Given the description of an element on the screen output the (x, y) to click on. 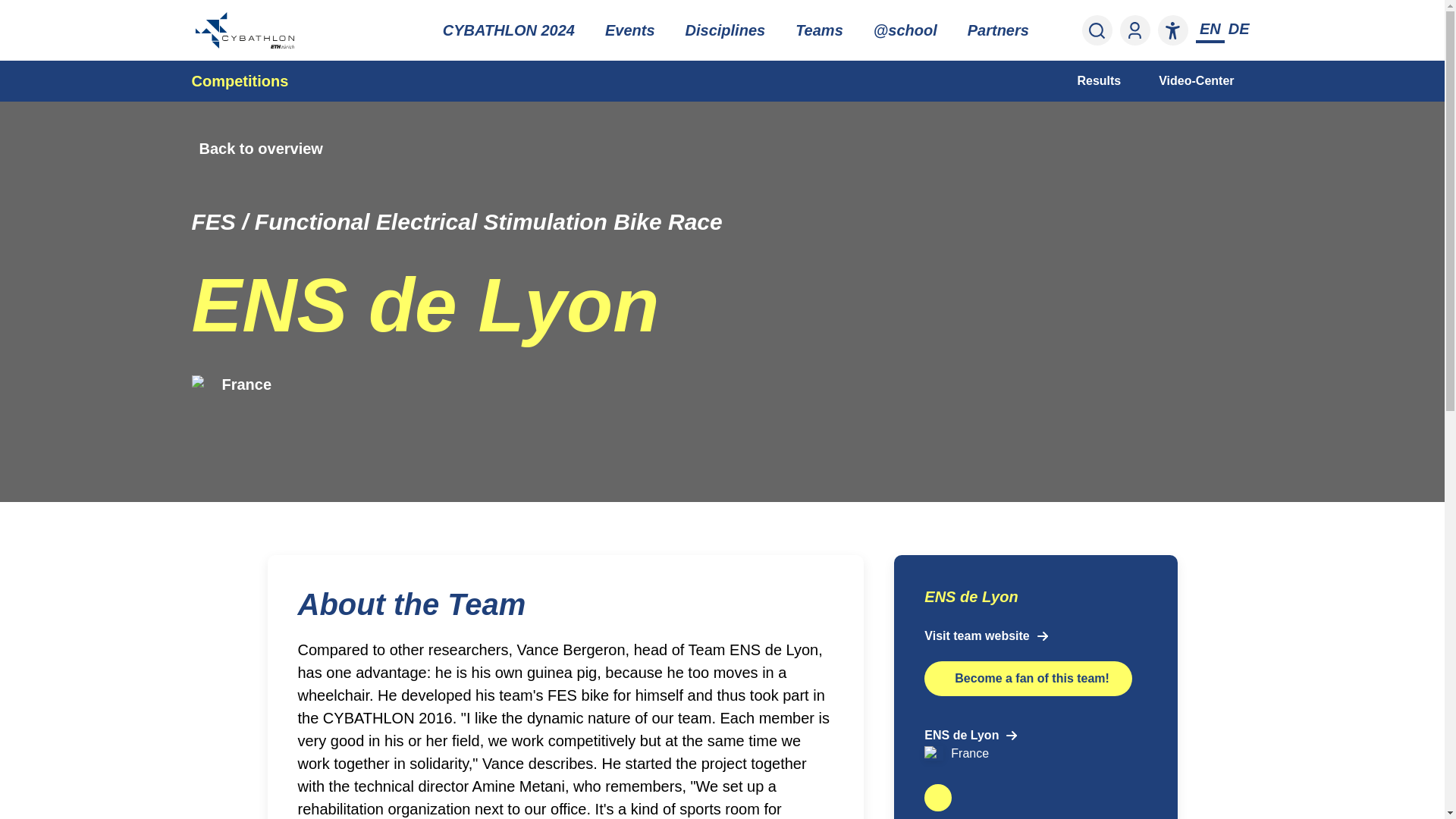
EN (1209, 28)
CYBATHLON 2024 (508, 30)
DE (1238, 28)
URL copied to clipboard (938, 797)
Partners (997, 30)
Disciplines (724, 30)
Video-Center (1196, 80)
Events (629, 30)
Teams (819, 30)
Results (1099, 80)
